Given the description of an element on the screen output the (x, y) to click on. 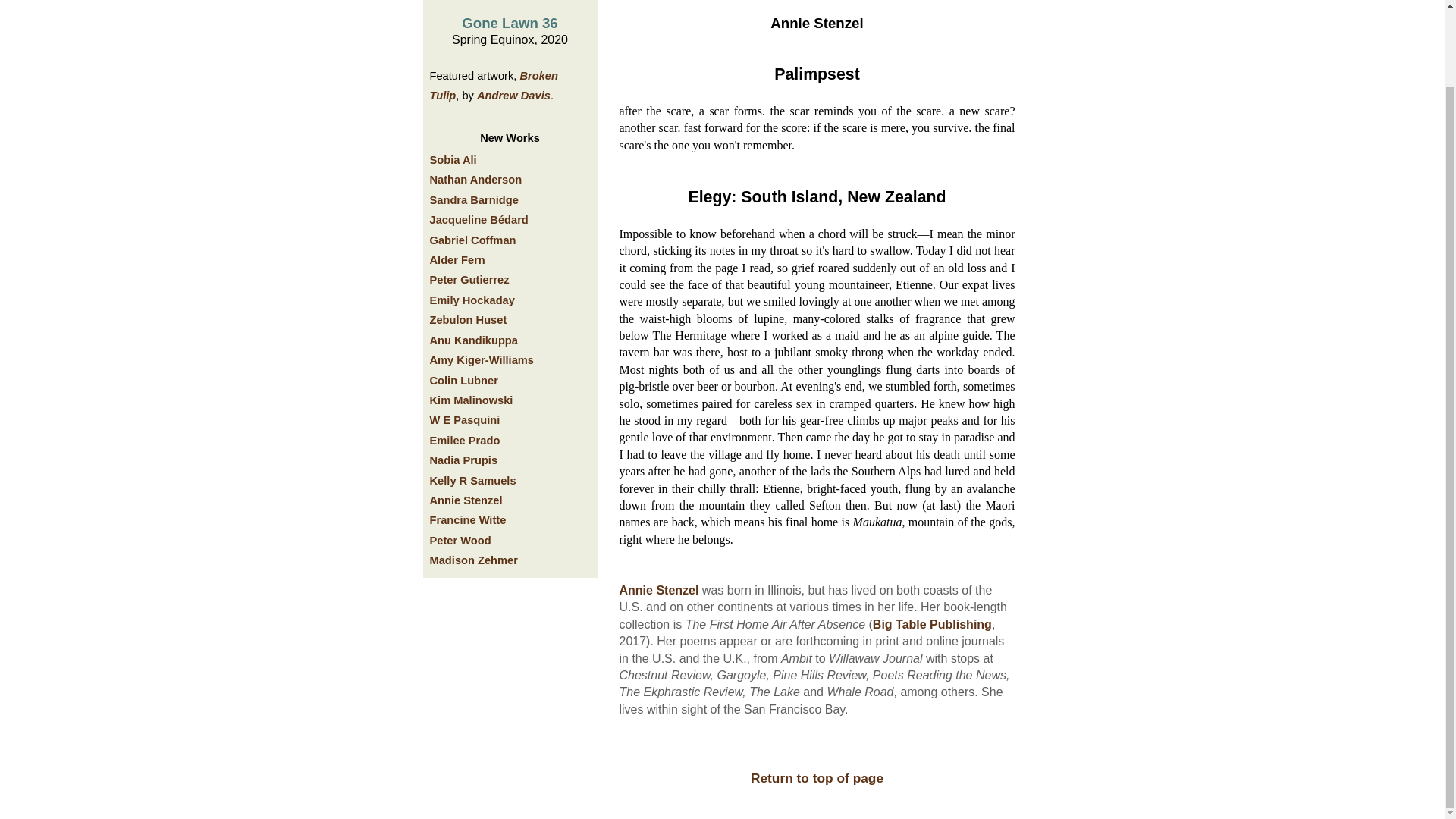
Big Table Publishing (931, 624)
Emilee Prado (464, 440)
Andrew Davis (513, 95)
Amy Kiger-Williams (481, 359)
Zebulon Huset (467, 319)
Madison Zehmer (472, 560)
Nadia Prupis (463, 460)
Nathan Anderson (475, 179)
Emily Hockaday (471, 300)
Annie Stenzel (465, 500)
